Given the description of an element on the screen output the (x, y) to click on. 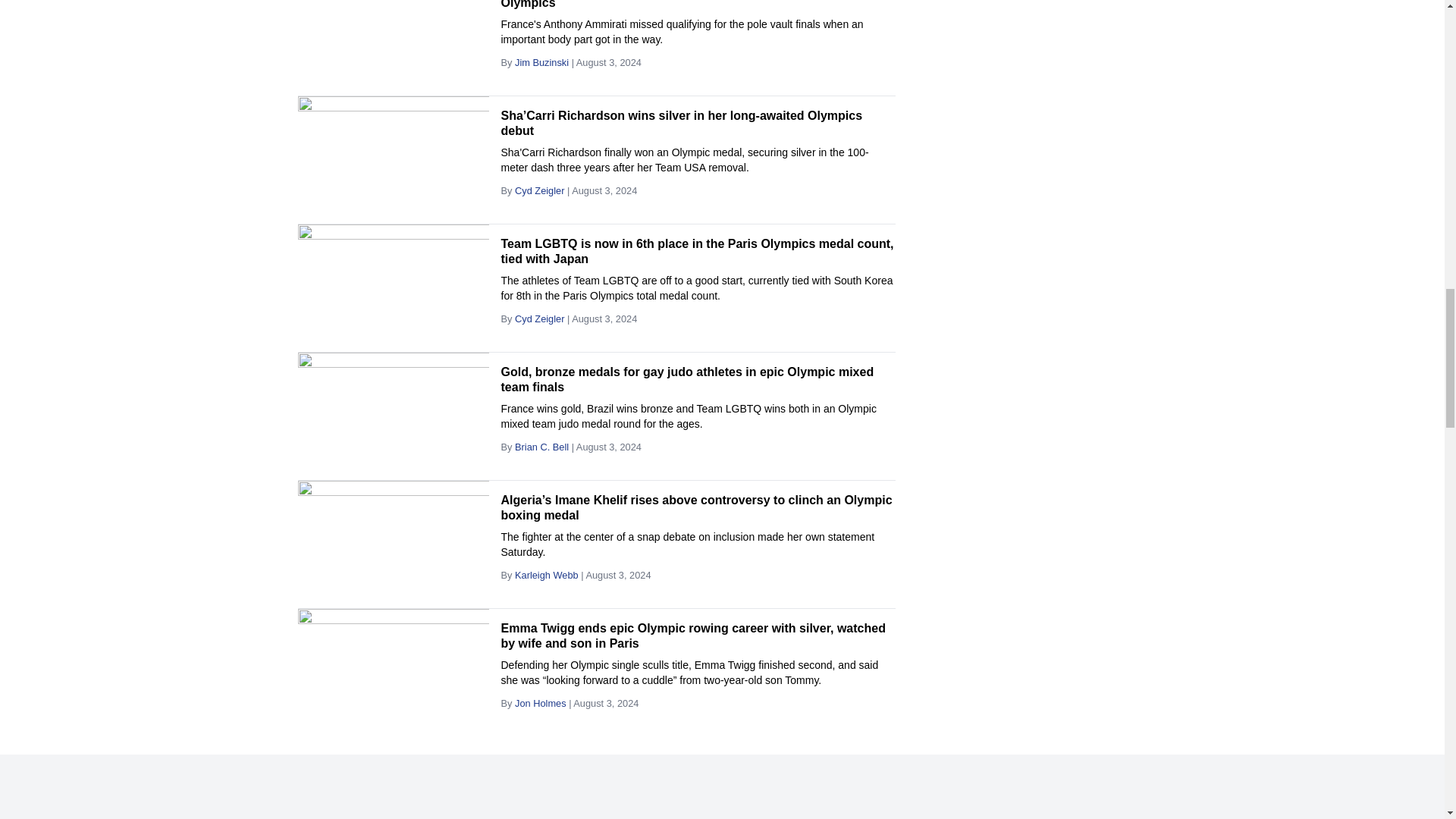
Jim Buzinski (542, 61)
Cyd Zeigler (539, 190)
